Given the description of an element on the screen output the (x, y) to click on. 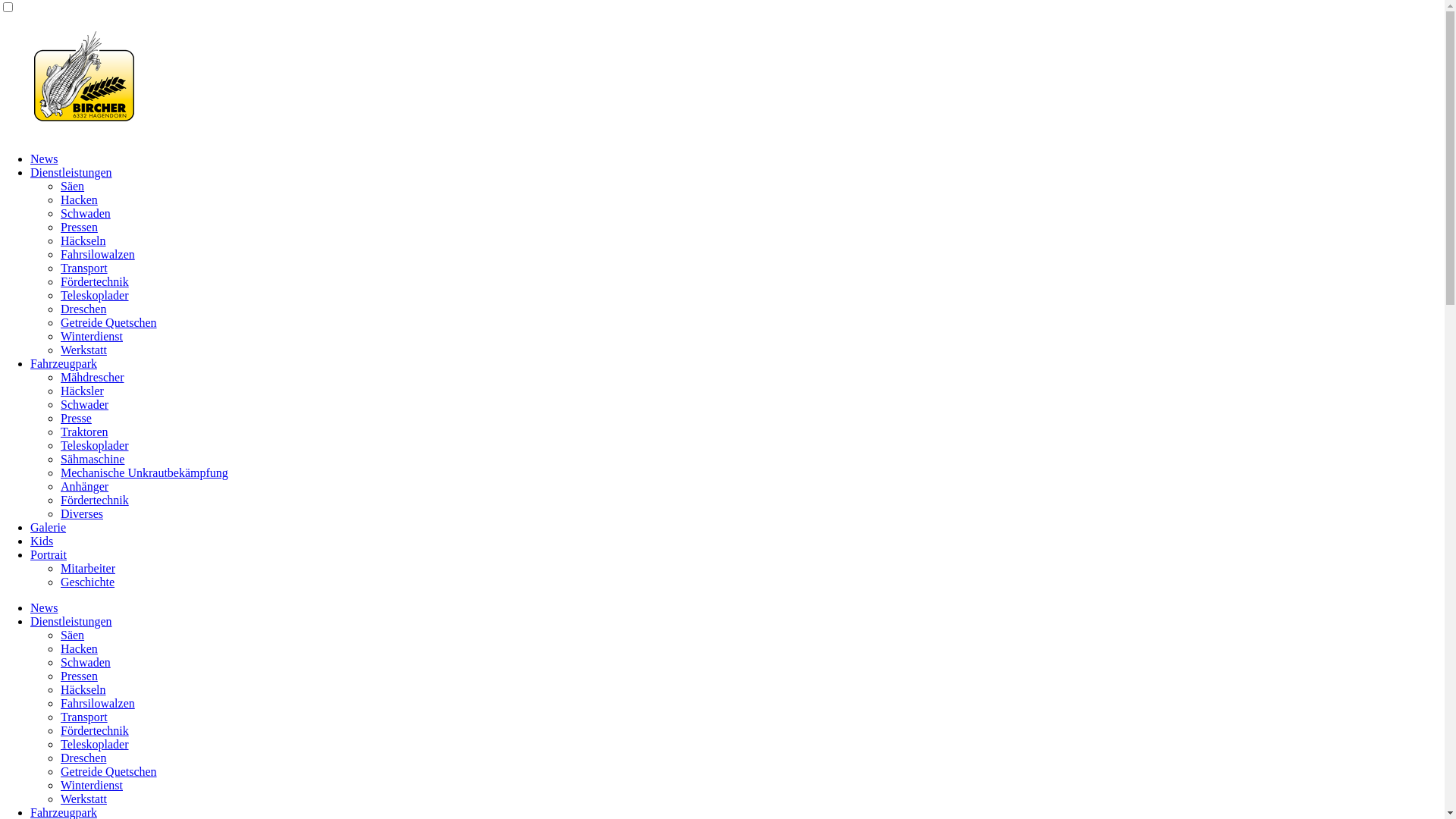
Pressen Element type: text (78, 675)
Schwaden Element type: text (85, 661)
Presse Element type: text (75, 417)
Fahrsilowalzen Element type: text (97, 253)
Galerie Element type: text (47, 526)
Getreide Quetschen Element type: text (108, 771)
Getreide Quetschen Element type: text (108, 322)
Teleskoplader Element type: text (94, 294)
Winterdienst Element type: text (91, 784)
Pressen Element type: text (78, 226)
Transport Element type: text (83, 267)
Fahrsilowalzen Element type: text (97, 702)
Fahrzeugpark Element type: text (63, 363)
Dreschen Element type: text (83, 757)
Winterdienst Element type: text (91, 335)
Dreschen Element type: text (83, 308)
Teleskoplader Element type: text (94, 743)
Geschichte Element type: text (87, 581)
Diverses Element type: text (81, 513)
Schwaden Element type: text (85, 213)
News Element type: text (43, 607)
News Element type: text (43, 158)
Schwader Element type: text (84, 404)
Hacken Element type: text (78, 199)
Dienstleistungen Element type: text (71, 621)
Portrait Element type: text (48, 554)
Hacken Element type: text (78, 648)
Kids Element type: text (41, 540)
Traktoren Element type: text (84, 431)
Werkstatt Element type: text (83, 349)
Werkstatt Element type: text (83, 798)
Dienstleistungen Element type: text (71, 172)
Transport Element type: text (83, 716)
Teleskoplader Element type: text (94, 445)
Mitarbeiter Element type: text (87, 567)
